Given the description of an element on the screen output the (x, y) to click on. 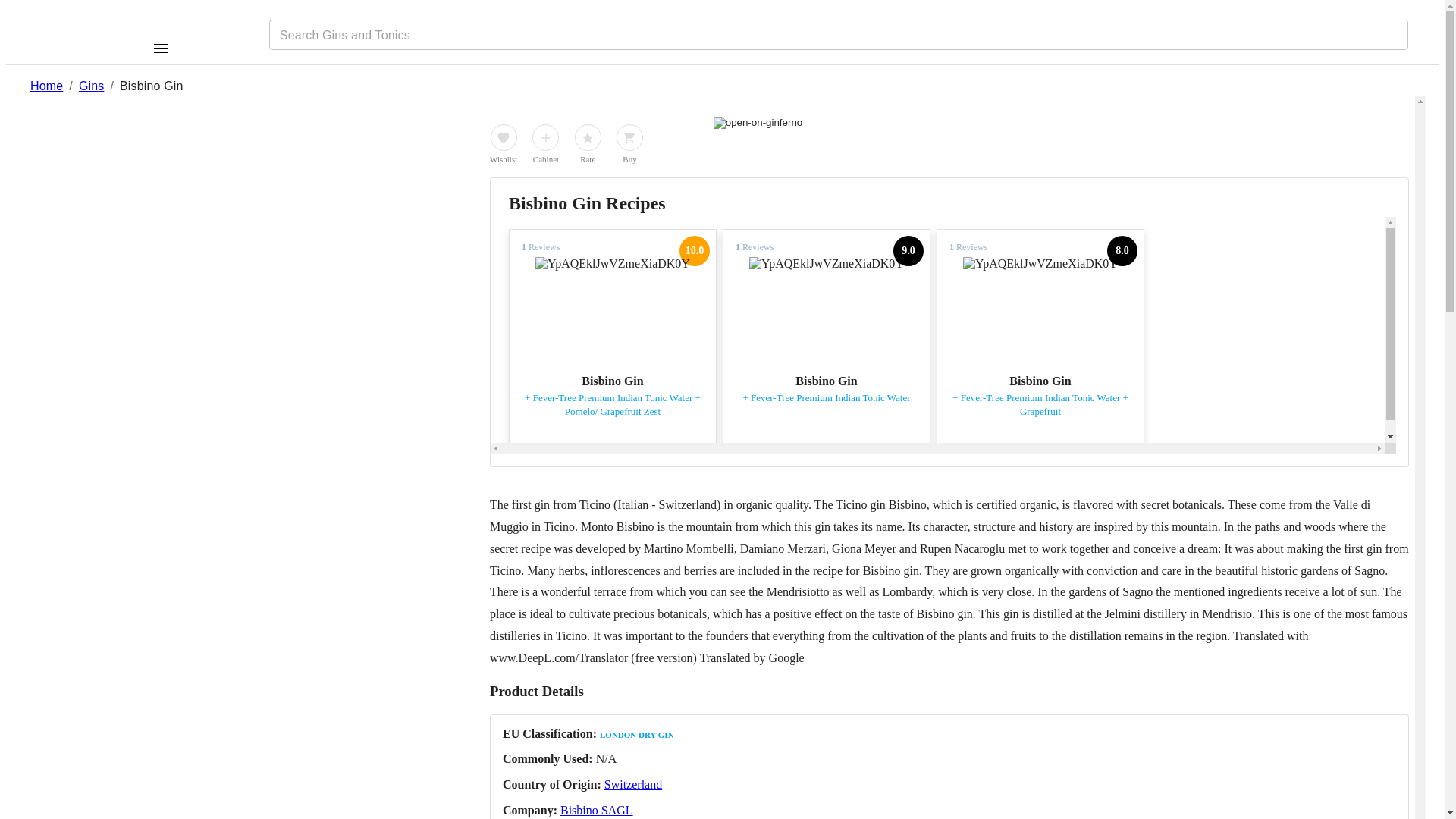
Home (46, 85)
Switzerland (633, 784)
Gins (91, 85)
Bisbino SAGL (596, 809)
